Given the description of an element on the screen output the (x, y) to click on. 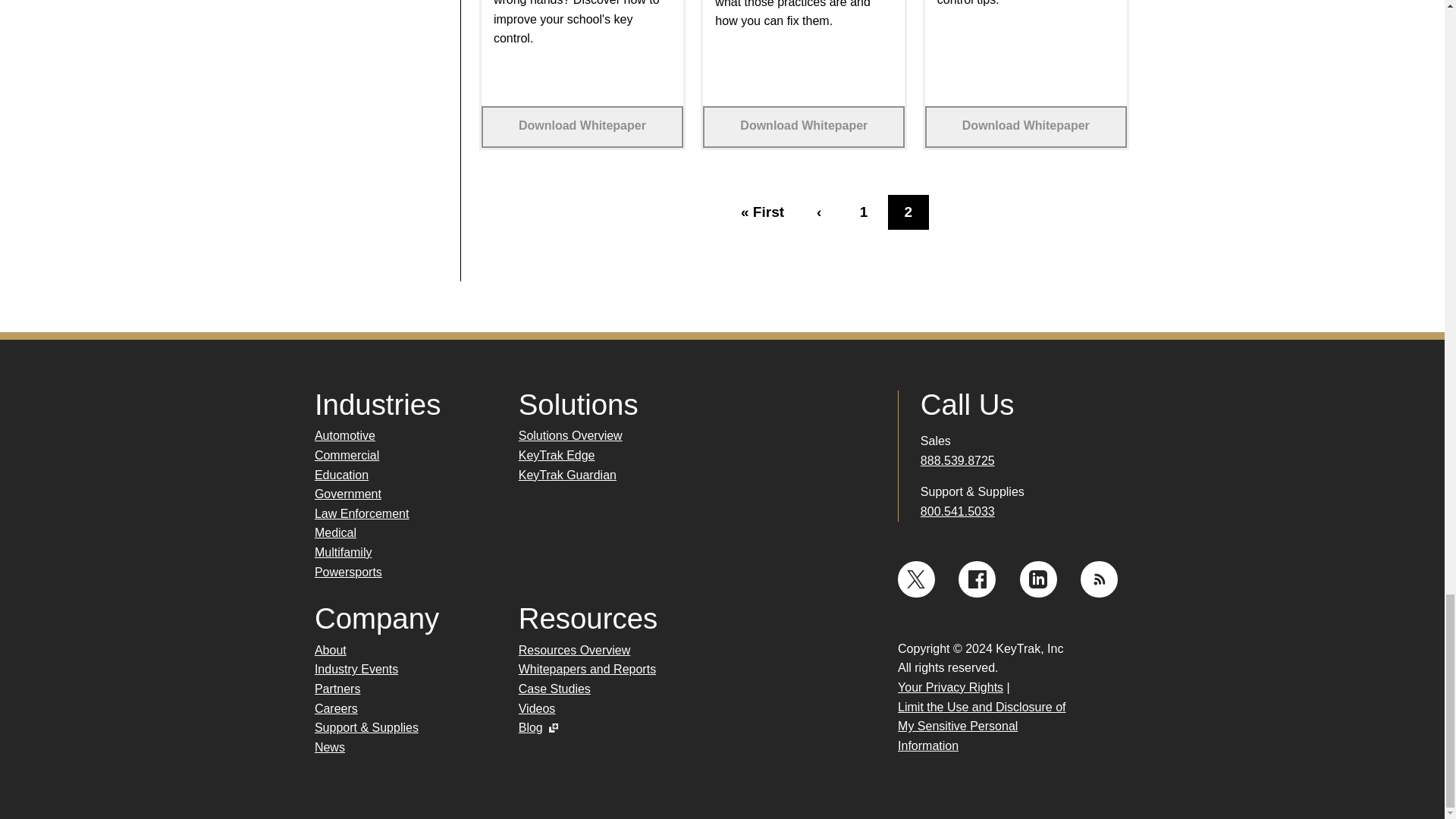
Current page (908, 212)
Go to first page (762, 212)
Go to previous page (818, 212)
Go to page 1 (863, 212)
